Given the description of an element on the screen output the (x, y) to click on. 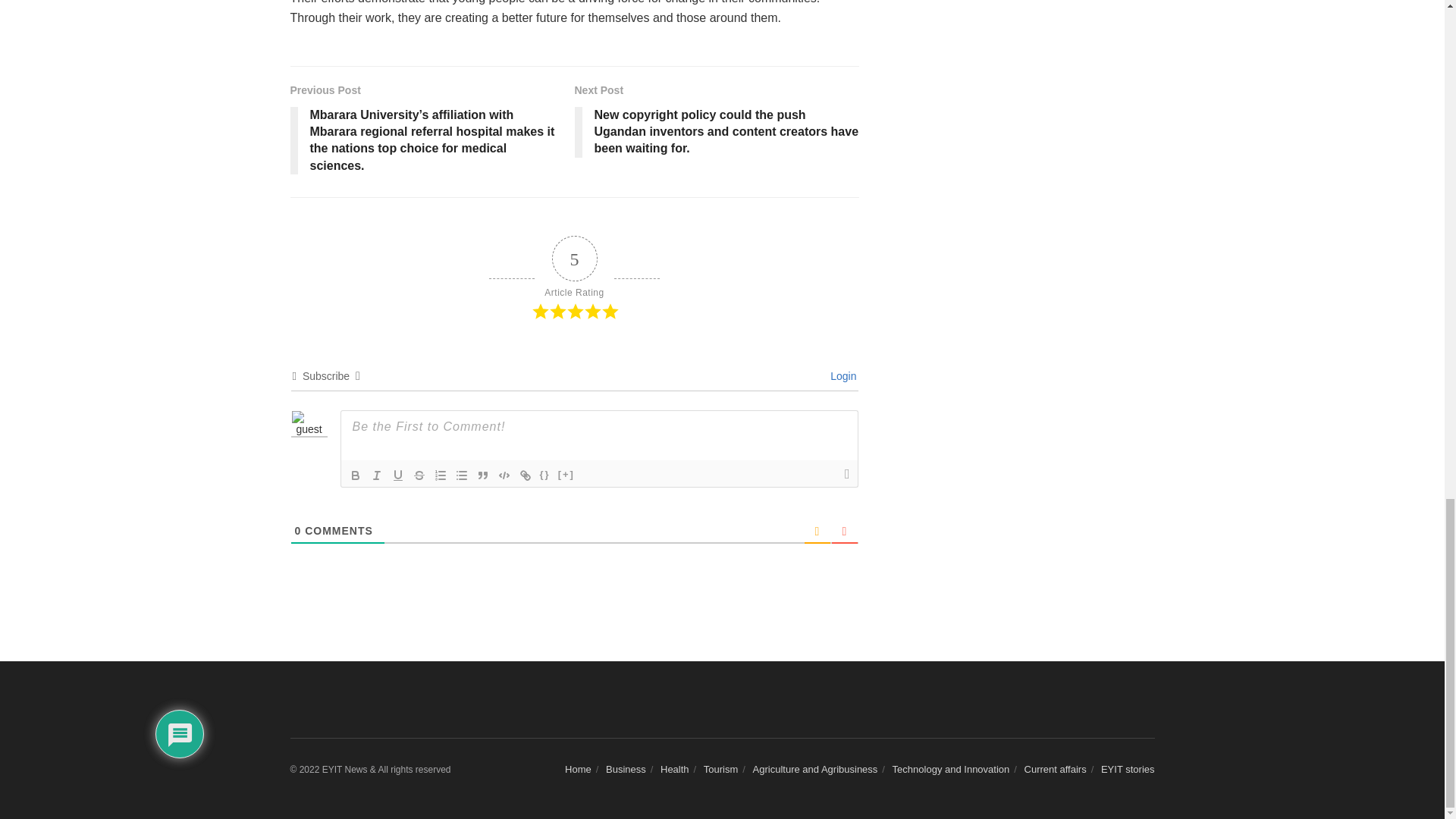
Italic (376, 475)
Source Code (544, 475)
Link (524, 475)
Unordered List (460, 475)
Code Block (503, 475)
Blockquote (482, 475)
Strike (418, 475)
Ordered List (439, 475)
Underline (397, 475)
Spoiler (566, 475)
